Given the description of an element on the screen output the (x, y) to click on. 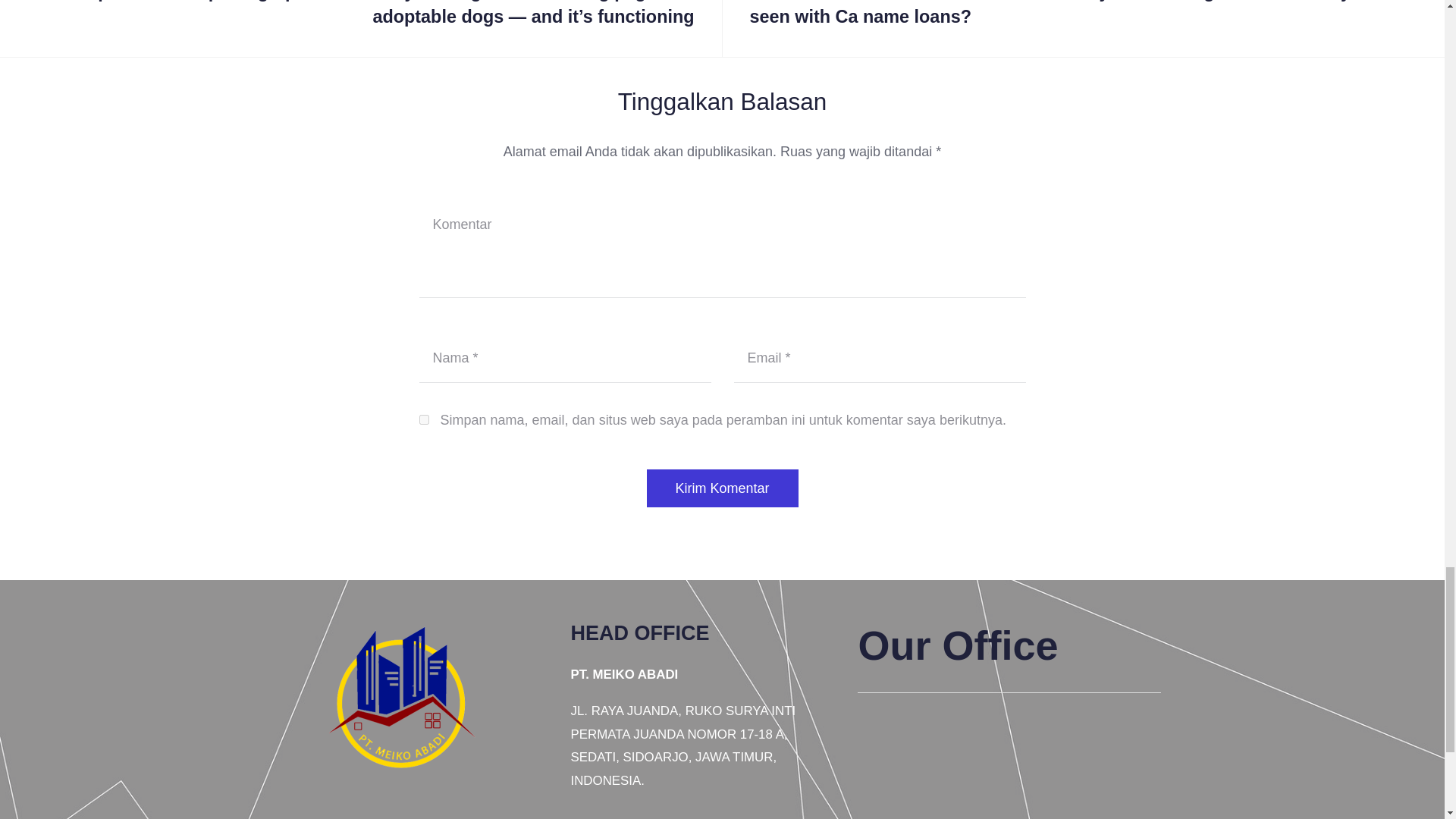
yes (423, 419)
Kirim Komentar (721, 487)
